Given the description of an element on the screen output the (x, y) to click on. 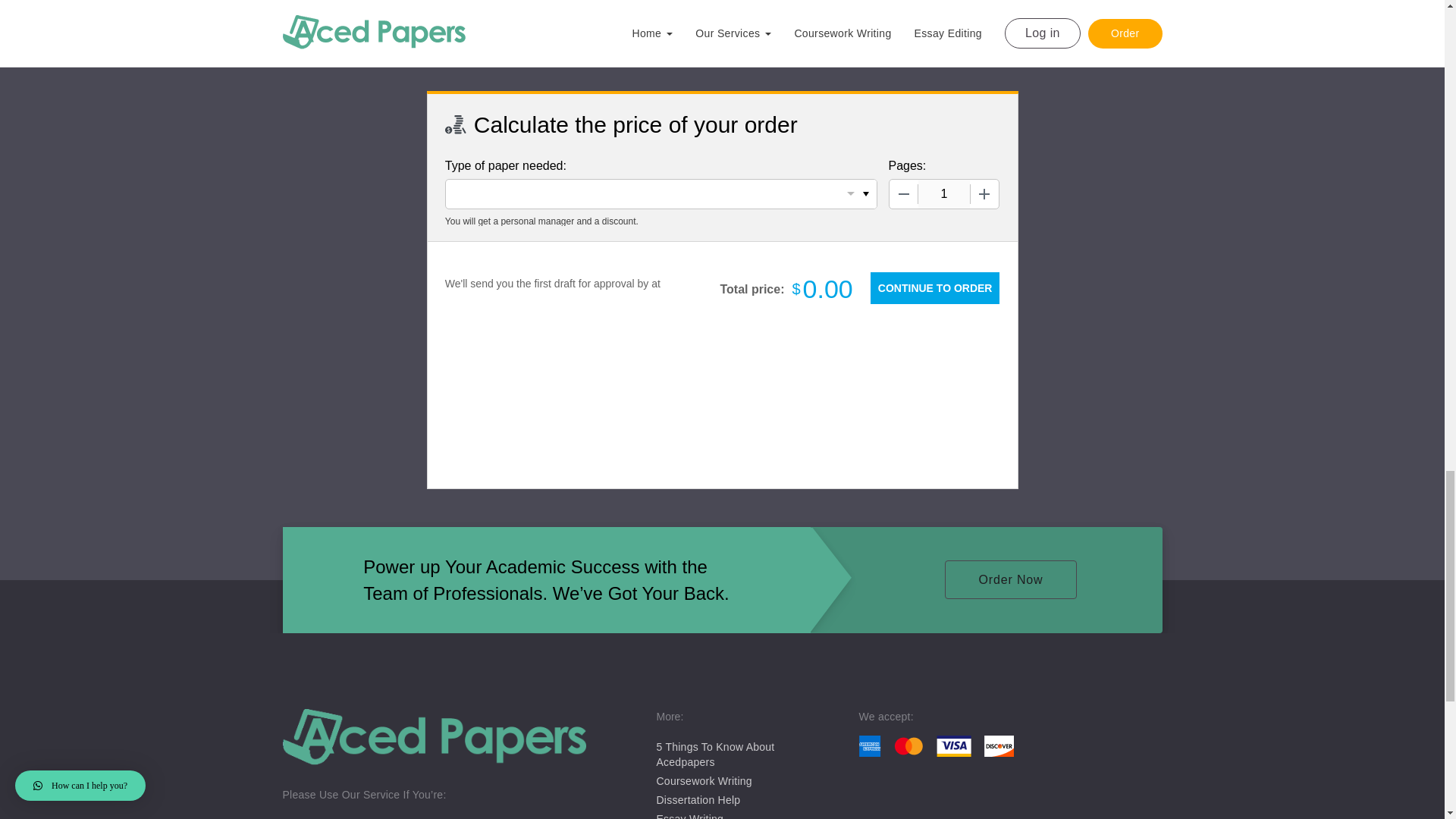
Continue to order (934, 287)
Continue to Order (934, 287)
Increase (983, 193)
1 (943, 193)
Decrease (902, 193)
